Given the description of an element on the screen output the (x, y) to click on. 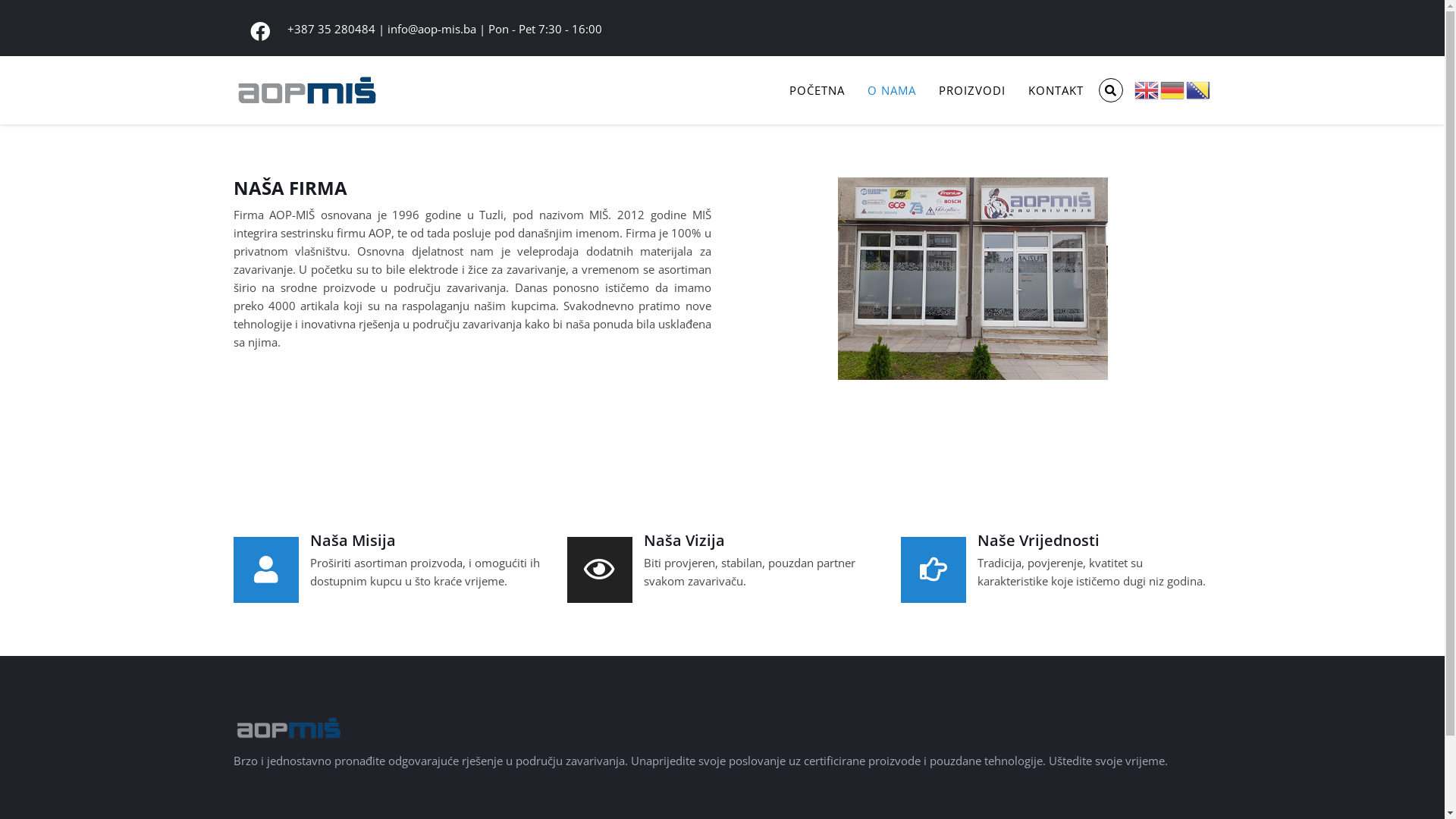
O NAMA Element type: text (890, 90)
Deutsch Element type: hover (1173, 88)
Bosanski Element type: hover (1198, 88)
English Element type: hover (1147, 88)
PROIZVODI Element type: text (971, 90)
KONTAKT Element type: text (1055, 90)
